Given the description of an element on the screen output the (x, y) to click on. 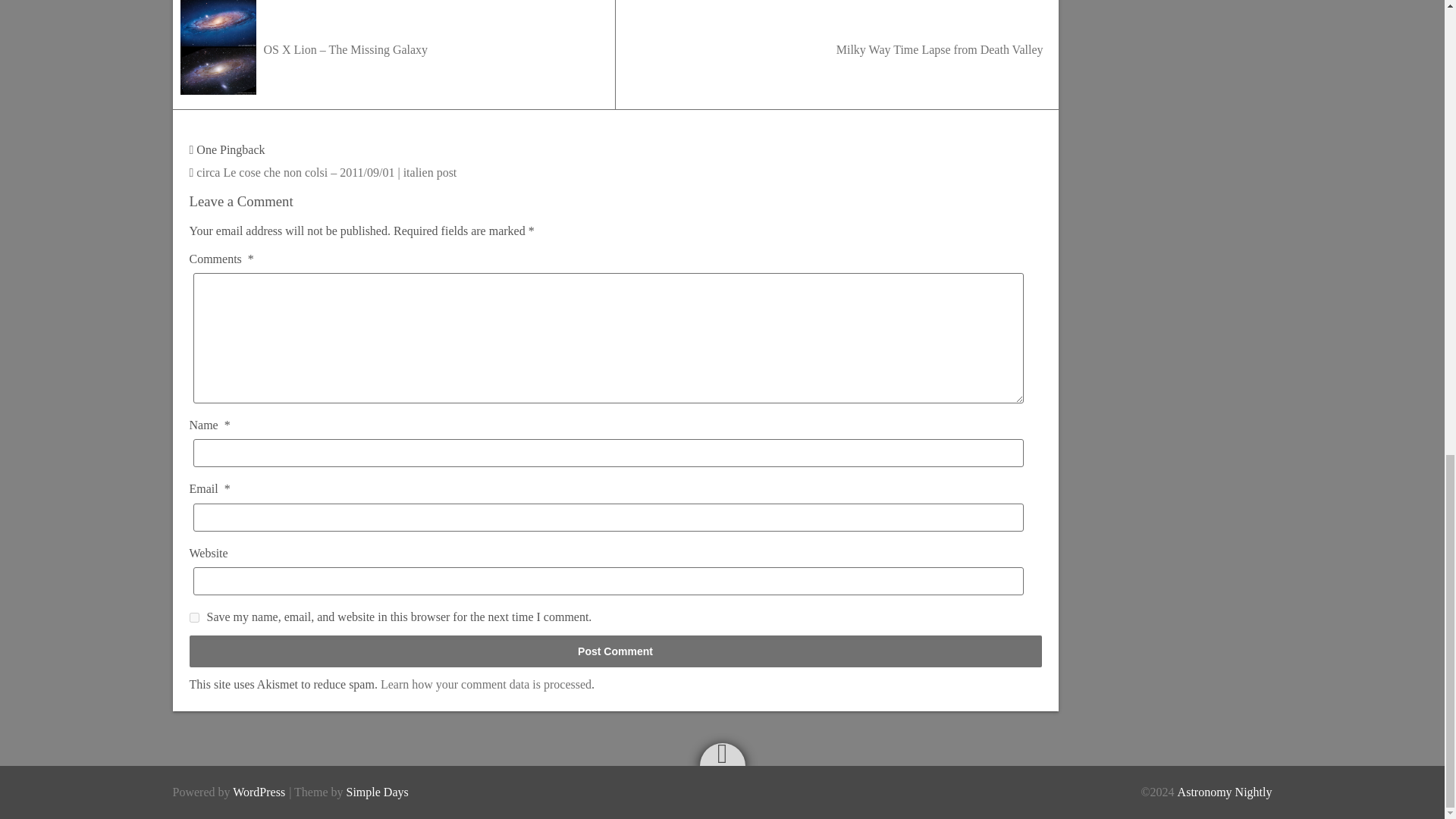
Post Comment (615, 651)
Learn how your comment data is processed (485, 684)
Milky Way Time Lapse from Death Valley (836, 54)
yes (194, 617)
Post Comment (615, 651)
